Given the description of an element on the screen output the (x, y) to click on. 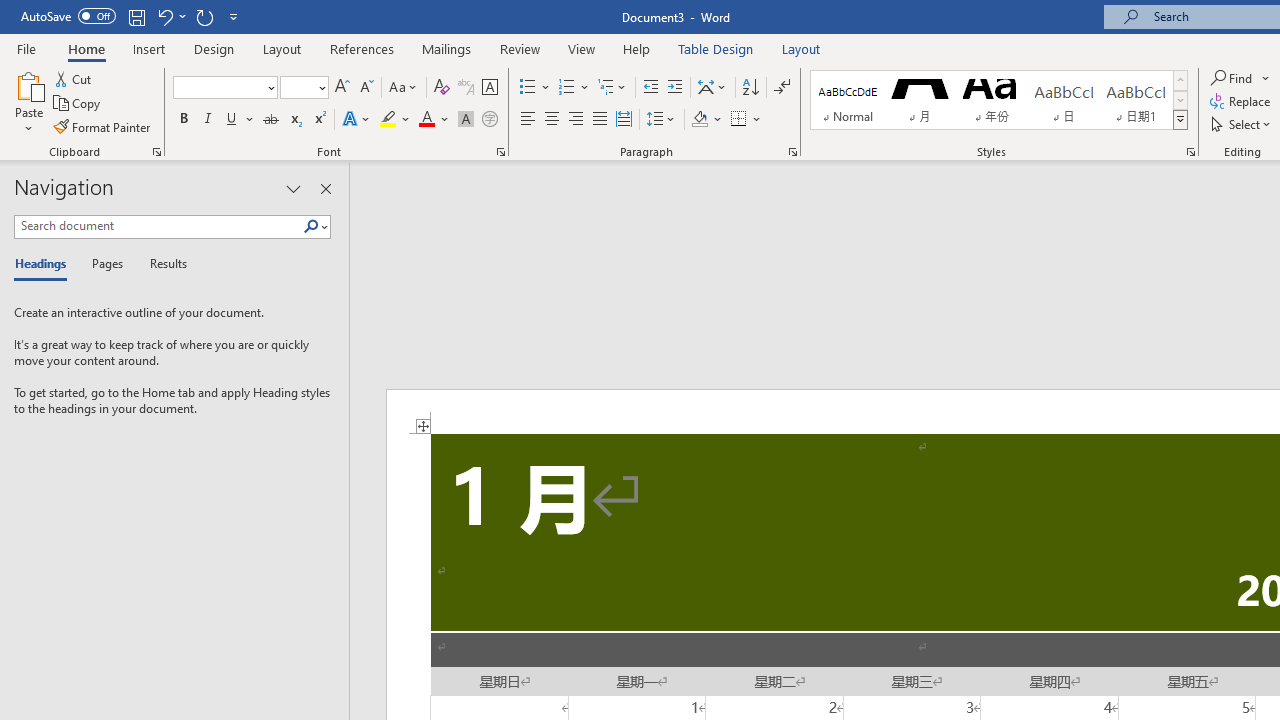
Center (552, 119)
Line and Paragraph Spacing (661, 119)
Paragraph... (792, 151)
Undo Apply Quick Style (164, 15)
Subscript (294, 119)
Search document (157, 226)
Review (520, 48)
Character Shading (465, 119)
Superscript (319, 119)
Text Highlight Color Yellow (388, 119)
Class: NetUIImage (1181, 119)
